Given the description of an element on the screen output the (x, y) to click on. 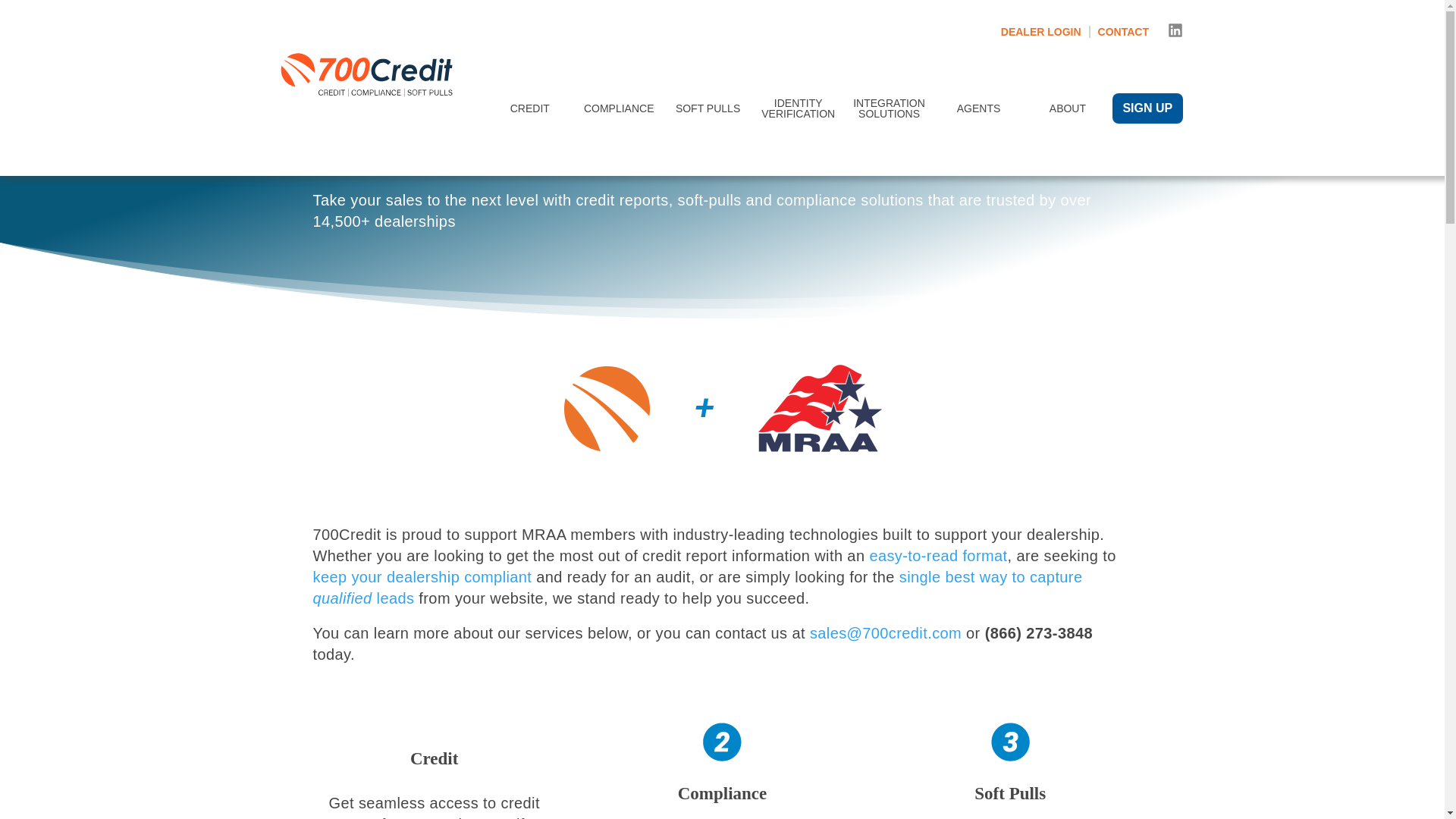
CREDIT (529, 107)
INTEGRATION SOLUTIONS (888, 107)
COMPLIANCE (618, 107)
SOFT PULLS (707, 107)
DEALER LOGIN (1045, 31)
CONTACT (1122, 31)
IDENTITY VERIFICATION (797, 107)
700 Credit home (369, 108)
